Given the description of an element on the screen output the (x, y) to click on. 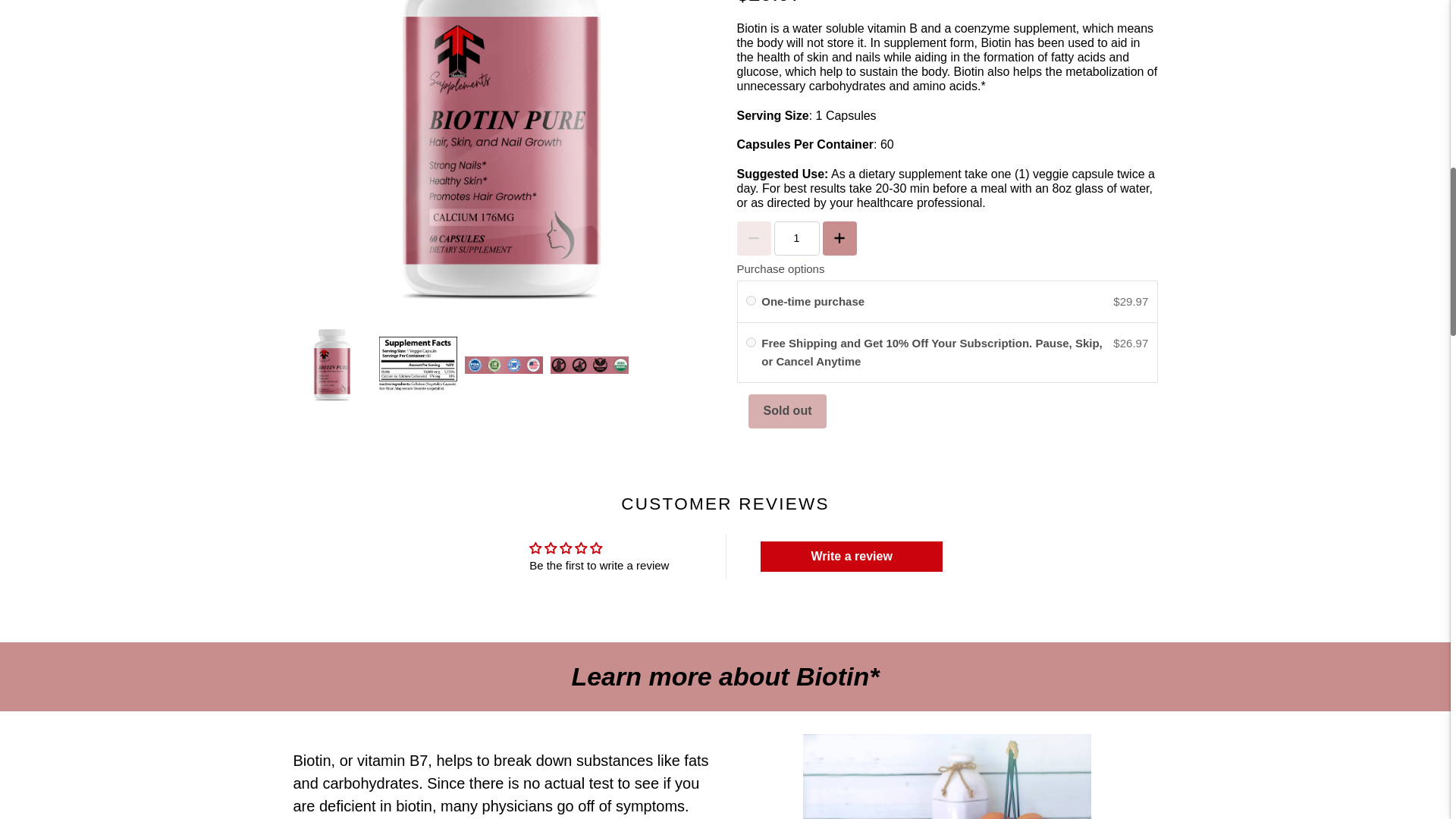
0 (750, 342)
1 (795, 238)
